Given the description of an element on the screen output the (x, y) to click on. 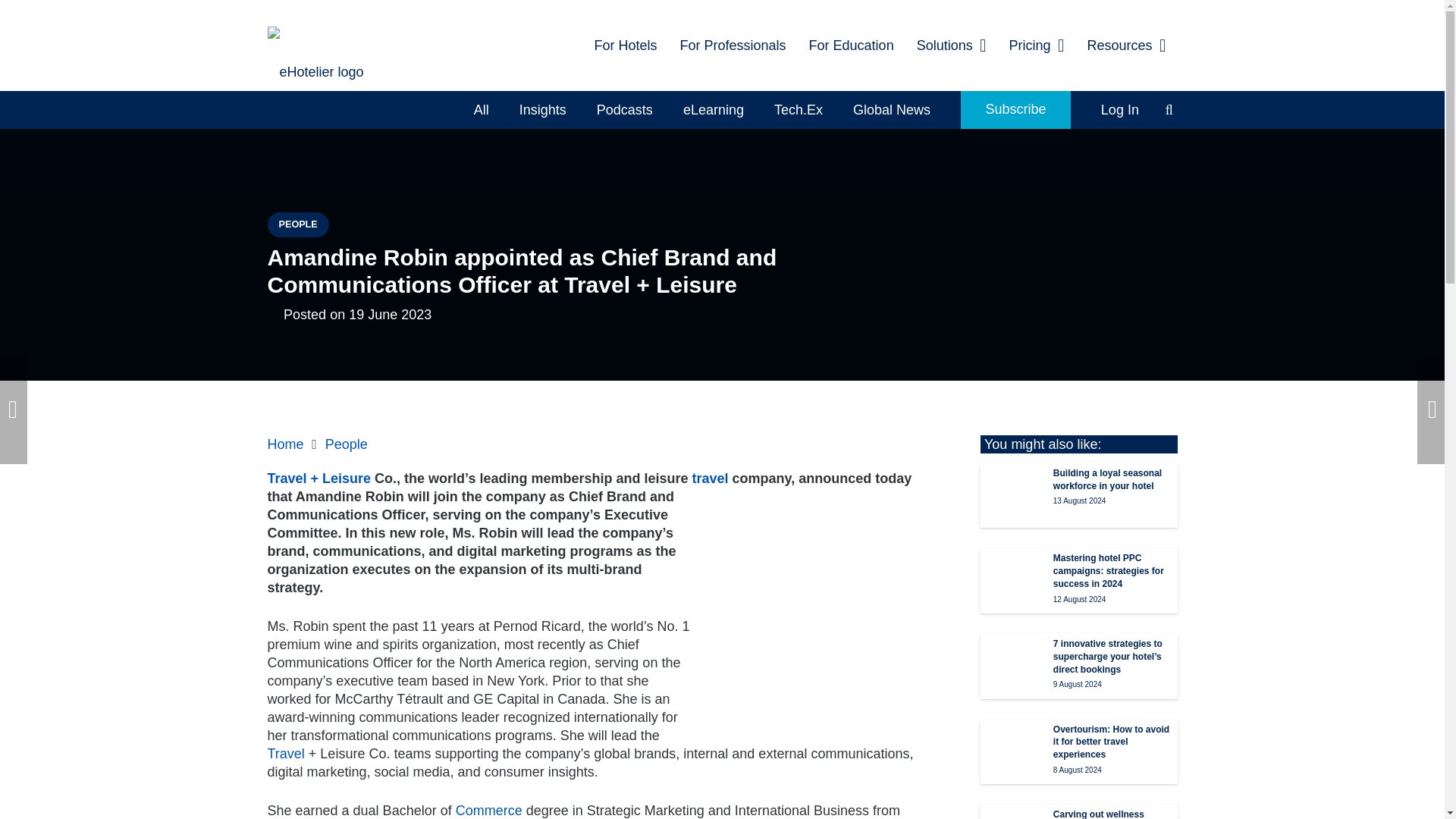
eLearning (713, 109)
Podcasts (624, 109)
PEOPLE (297, 224)
Resources (1126, 45)
Tech.Ex (798, 109)
Subscribe (1015, 109)
Global News (891, 109)
For Professionals (732, 45)
For Education (851, 45)
Insights (541, 109)
